Given the description of an element on the screen output the (x, y) to click on. 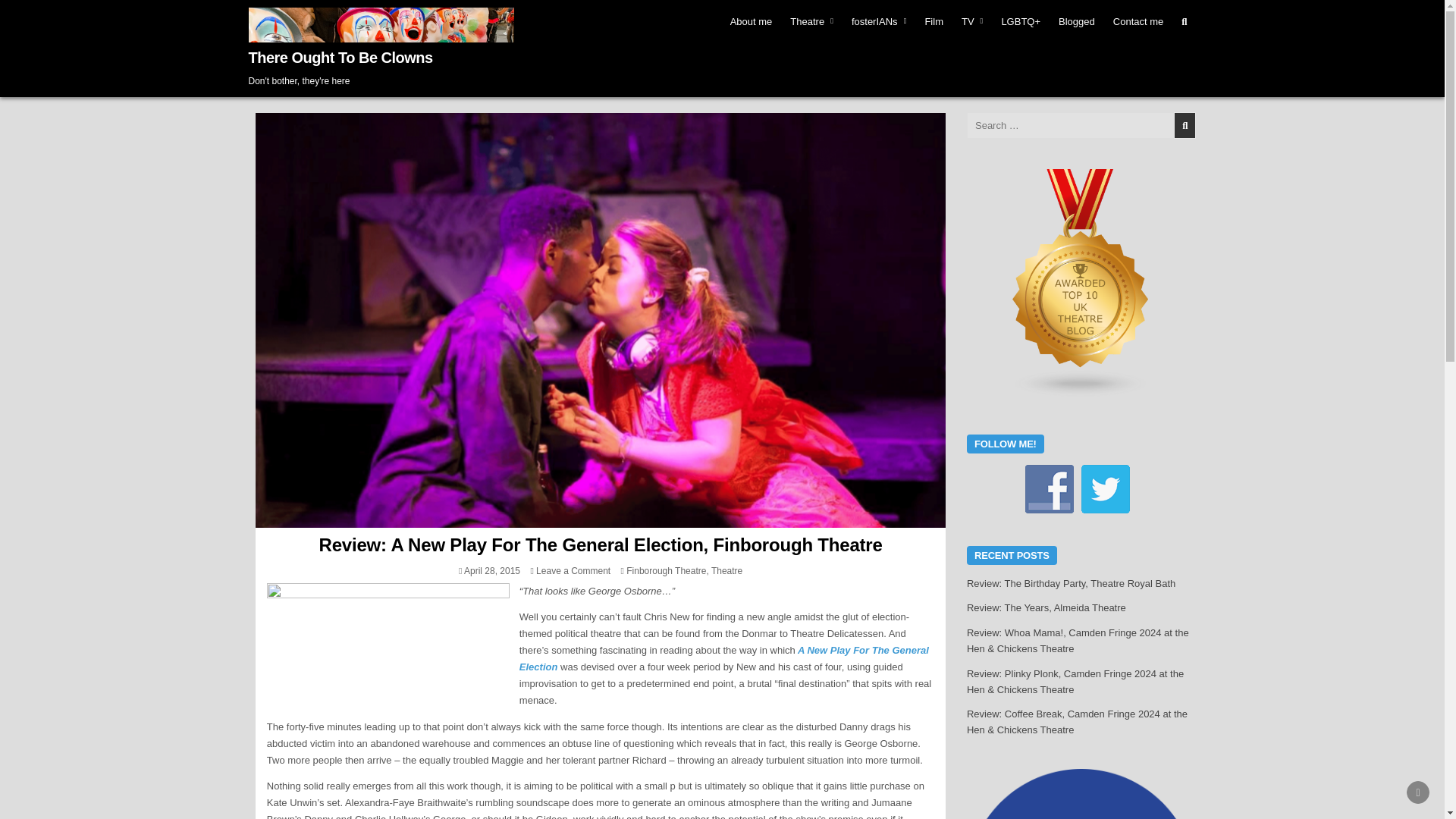
Theatre (811, 21)
About me (750, 21)
SCROLL TO TOP (1417, 792)
There Ought To Be Clowns (340, 57)
